Given the description of an element on the screen output the (x, y) to click on. 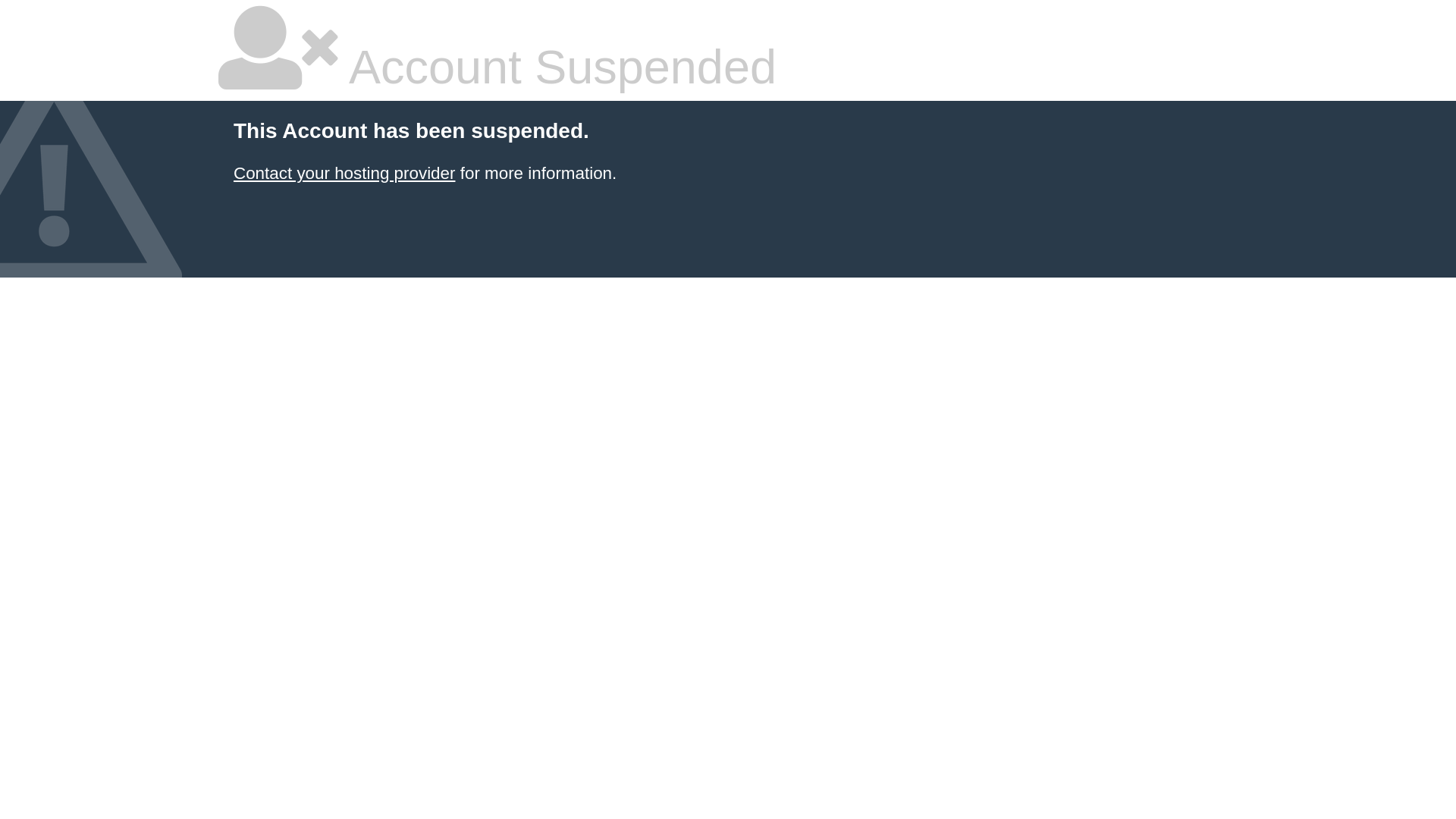
Contact your hosting provider Element type: text (344, 172)
